Given the description of an element on the screen output the (x, y) to click on. 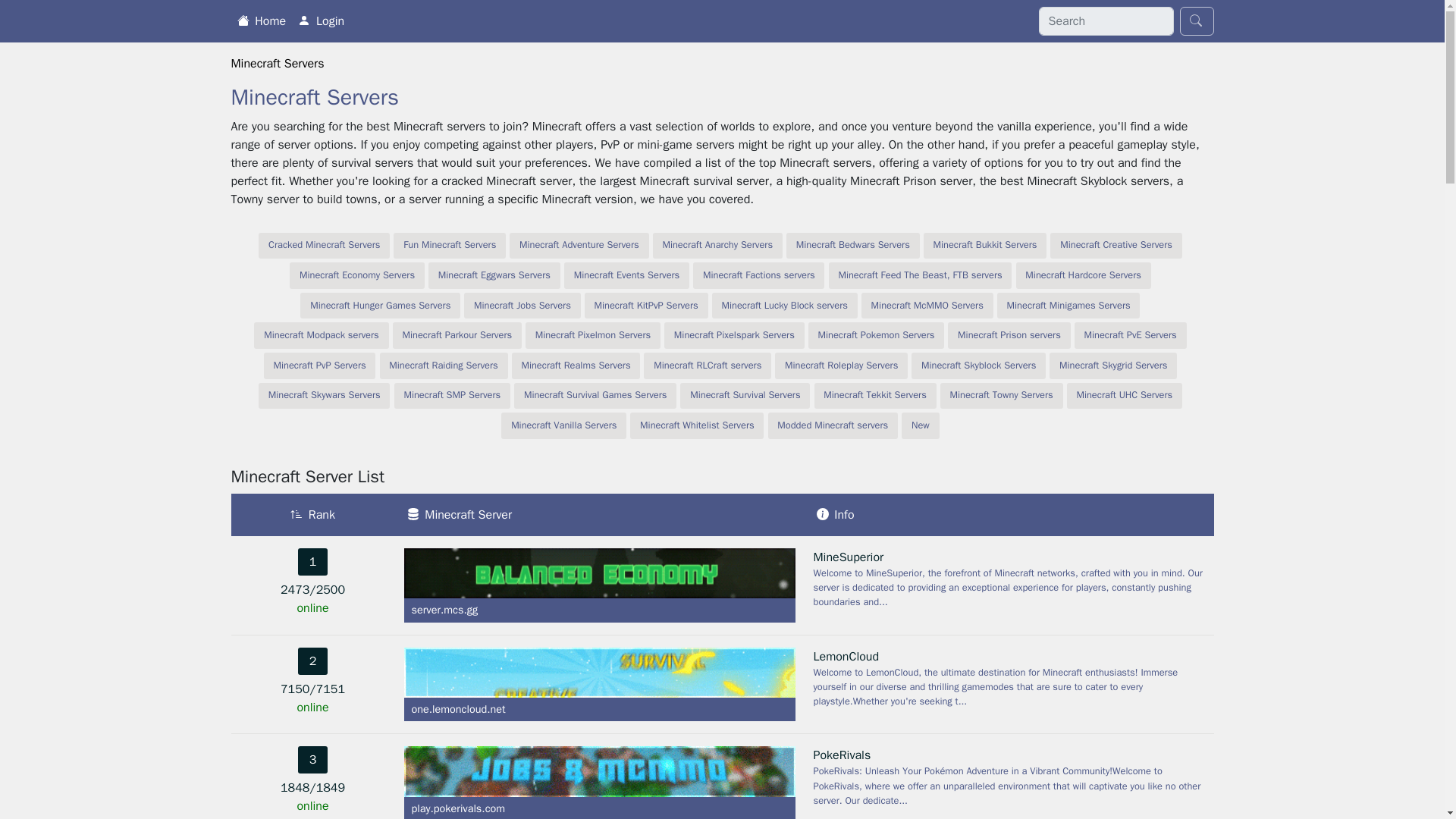
Minecraft Pixelmon Servers (593, 335)
Minecraft Bedwars Servers (853, 245)
Minecraft McMMO Servers (926, 305)
Minecraft Roleplay Servers (840, 365)
Minecraft Pokemon Servers (875, 335)
Minecraft Raiding Servers (444, 365)
Minecraft Economy Servers (357, 275)
Minecraft Parkour Servers (457, 335)
Home (261, 20)
Minecraft Modpack servers (320, 335)
Search (1196, 21)
Minecraft Skyblock Servers (978, 365)
Minecraft Lucky Block servers (784, 305)
Minecraft Events Servers (626, 275)
Minecraft PvP Servers (319, 365)
